Given the description of an element on the screen output the (x, y) to click on. 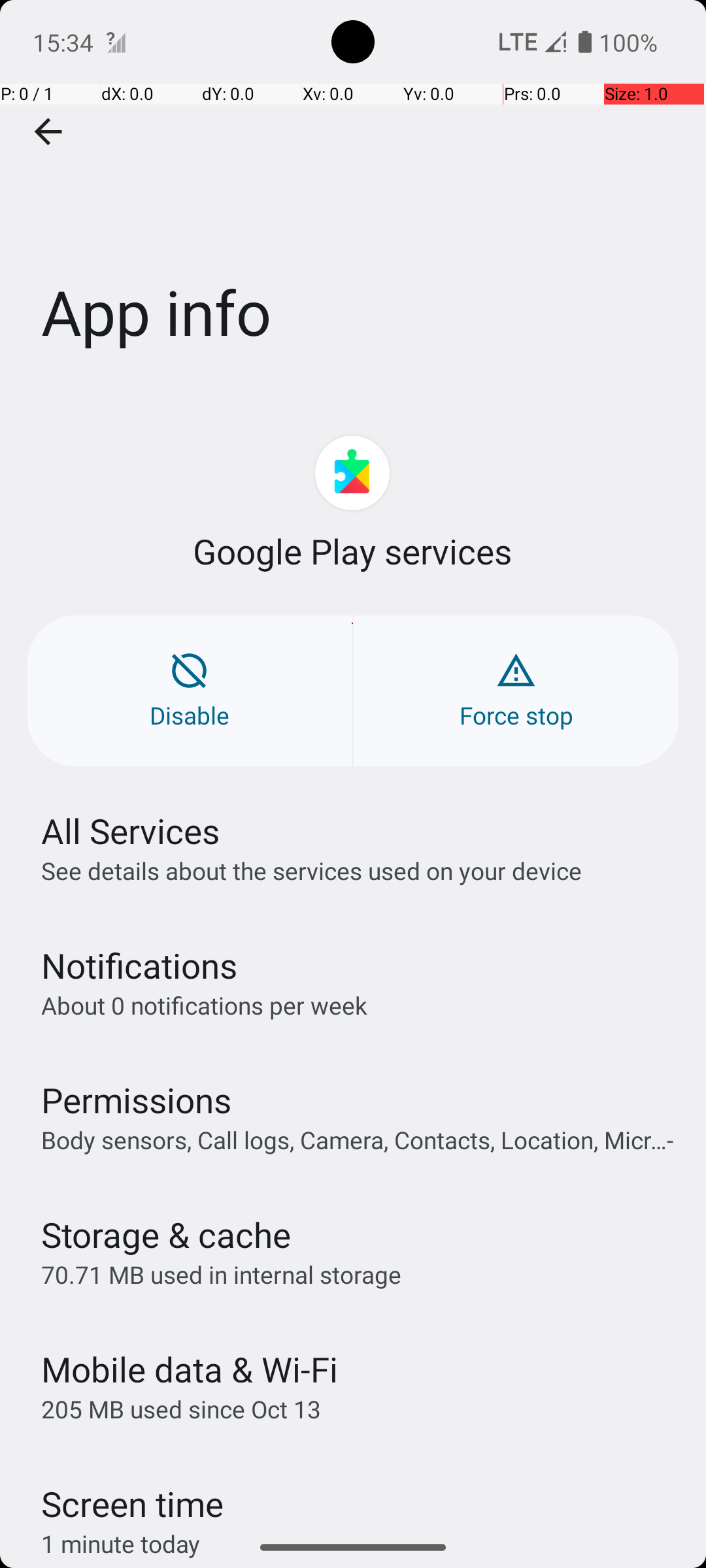
Google Play services Element type: android.widget.TextView (352, 550)
All Services Element type: android.widget.TextView (130, 830)
See details about the services used on your device Element type: android.widget.TextView (311, 870)
Body sensors, Call logs, Camera, Contacts, Location, Microphone, Music and audio, Nearby devices, Notifications, Phone, Photos and videos, Physical activity, and SMS Element type: android.widget.TextView (359, 1139)
70.71 MB used in internal storage Element type: android.widget.TextView (221, 1273)
205 MB used since Oct 13 Element type: android.widget.TextView (180, 1408)
